Given the description of an element on the screen output the (x, y) to click on. 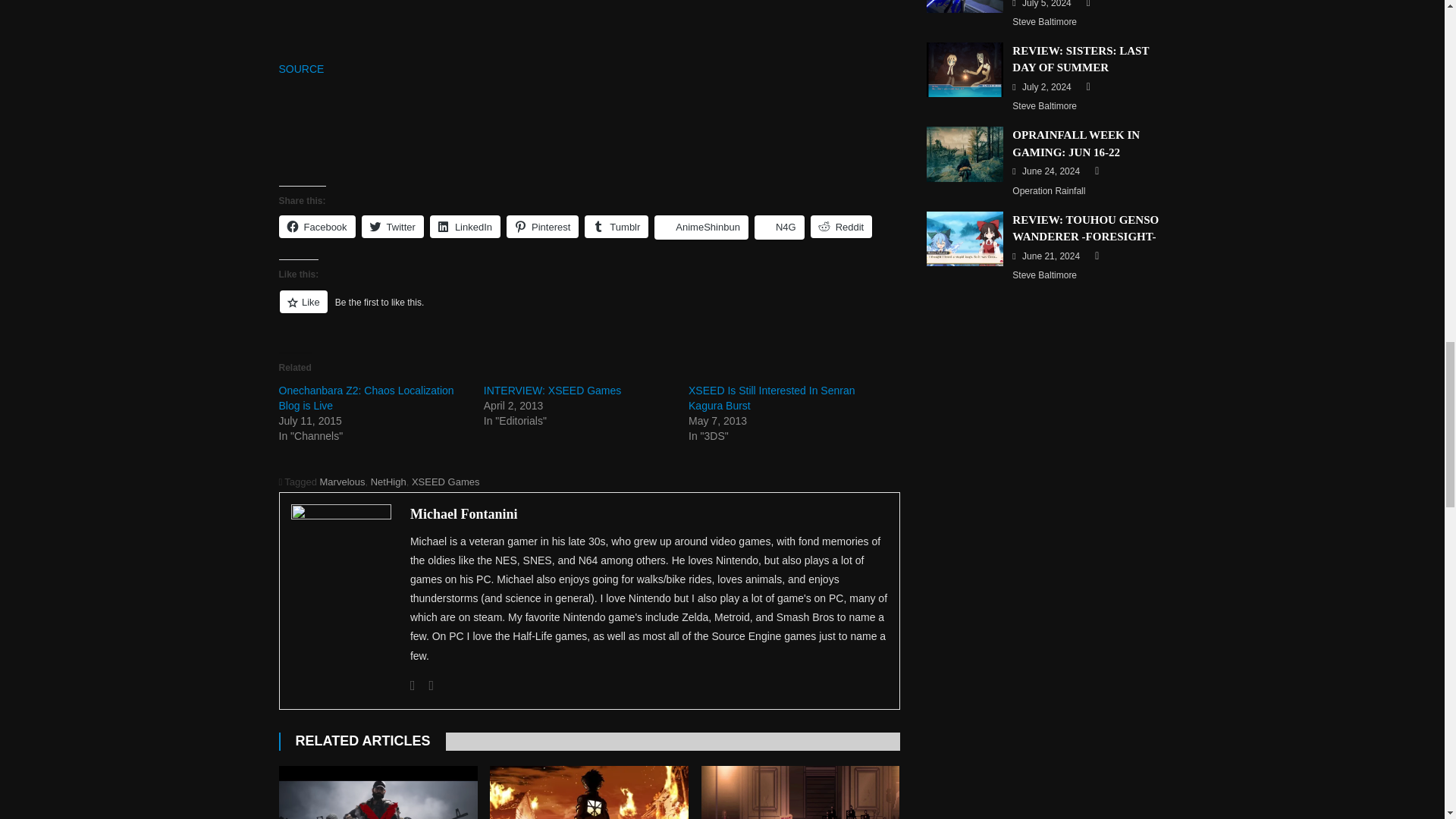
Click to share on N4G (779, 227)
Click to share on Tumblr (616, 226)
Onechanbara Z2: Chaos Localization Blog is Live (366, 397)
Click to share on LinkedIn (464, 226)
Click to share on Reddit (841, 226)
Twitter (392, 226)
Facebook (412, 685)
Click to share on Twitter (392, 226)
XSEED Is Still Interested In Senran Kagura Burst (771, 397)
SOURCE (301, 69)
LinkedIn (464, 226)
Tumblr (616, 226)
Pinterest (542, 226)
Like or Reblog (589, 310)
E3 2019: CrossfireX Coming to Xbox in 2020 (378, 792)
